Given the description of an element on the screen output the (x, y) to click on. 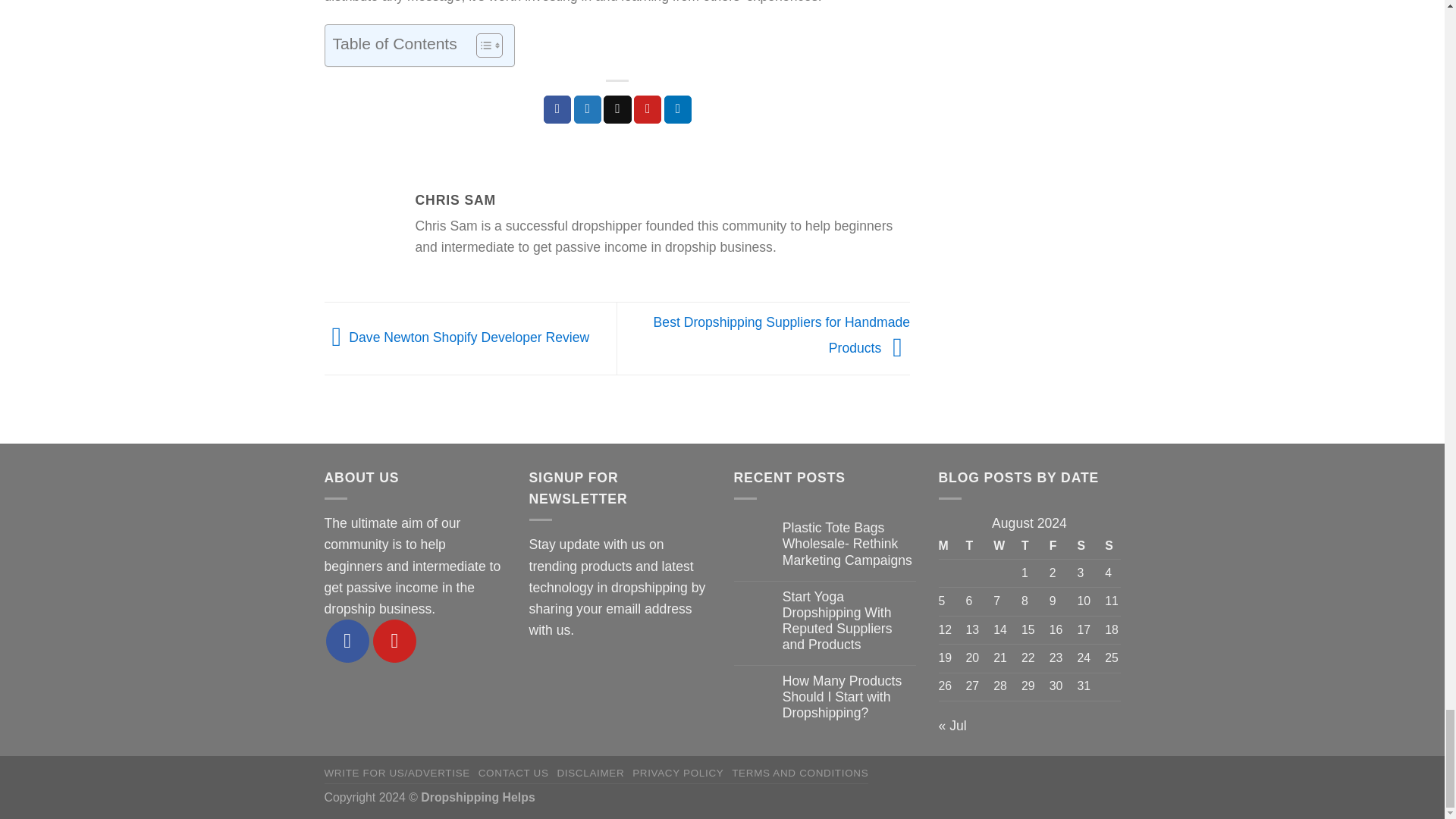
Email to a Friend (617, 109)
Share on LinkedIn (677, 109)
Share on Twitter (587, 109)
Share on Facebook (556, 109)
Pin on Pinterest (647, 109)
